Given the description of an element on the screen output the (x, y) to click on. 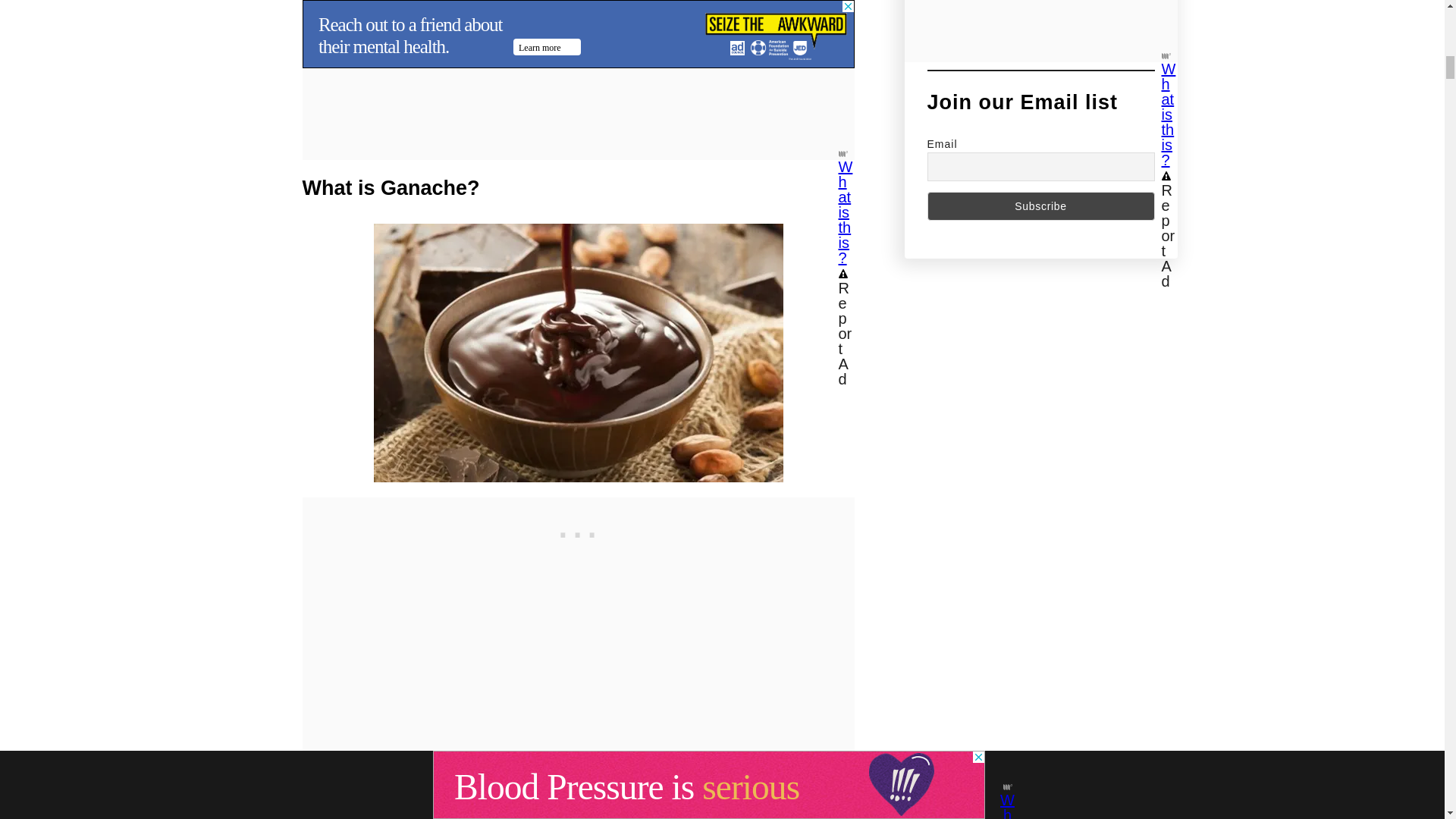
3rd party ad content (577, 531)
Subscribe (1040, 205)
